Given the description of an element on the screen output the (x, y) to click on. 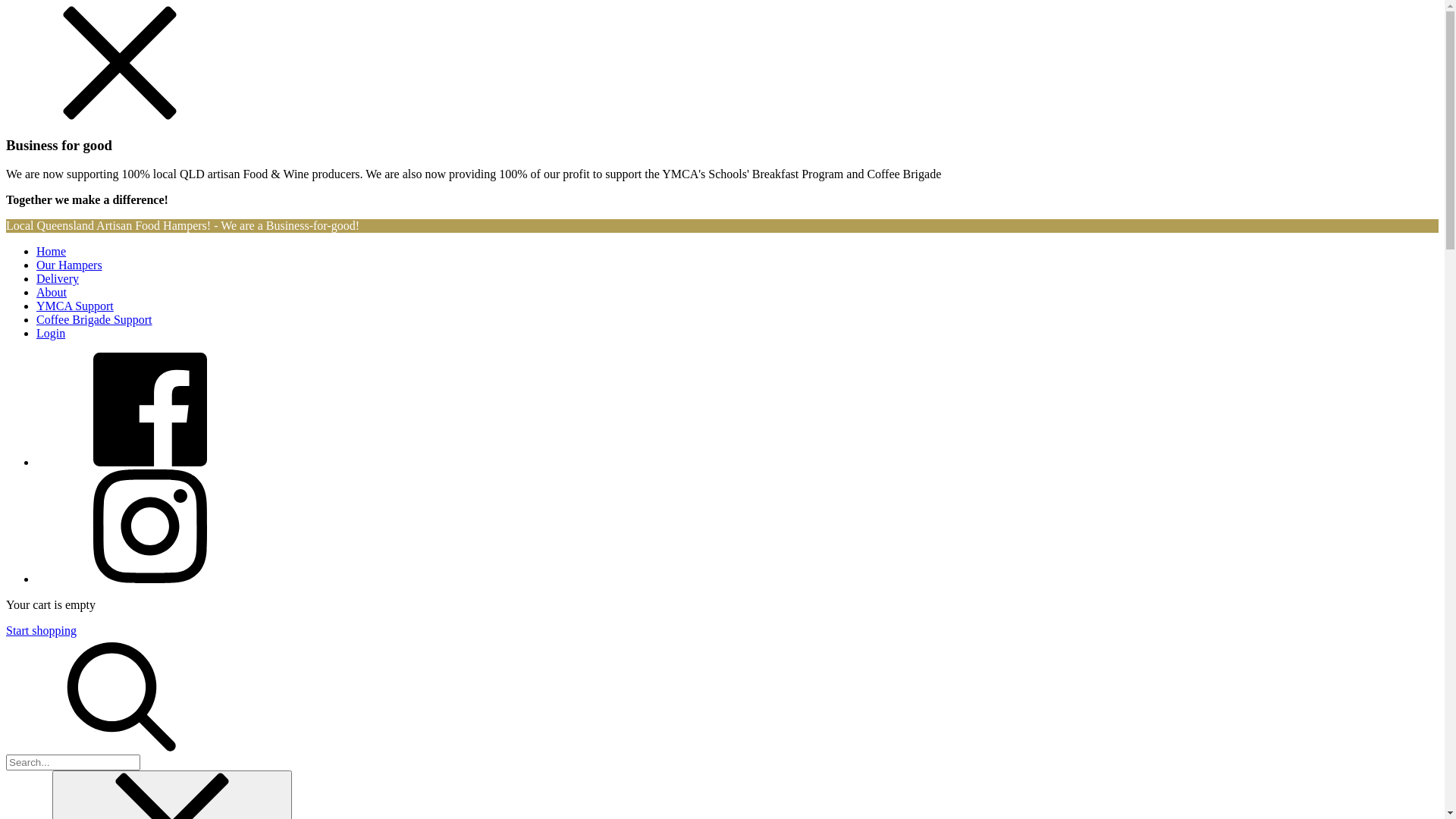
Start shopping Element type: text (41, 630)
Instagram Element type: text (149, 578)
Delivery Element type: text (57, 278)
YMCA Support Element type: text (74, 305)
About Element type: text (51, 291)
Coffee Brigade Support Element type: text (94, 319)
Login Element type: text (50, 332)
Facebook Element type: text (149, 461)
Home Element type: text (50, 250)
Our Hampers Element type: text (69, 264)
